Given the description of an element on the screen output the (x, y) to click on. 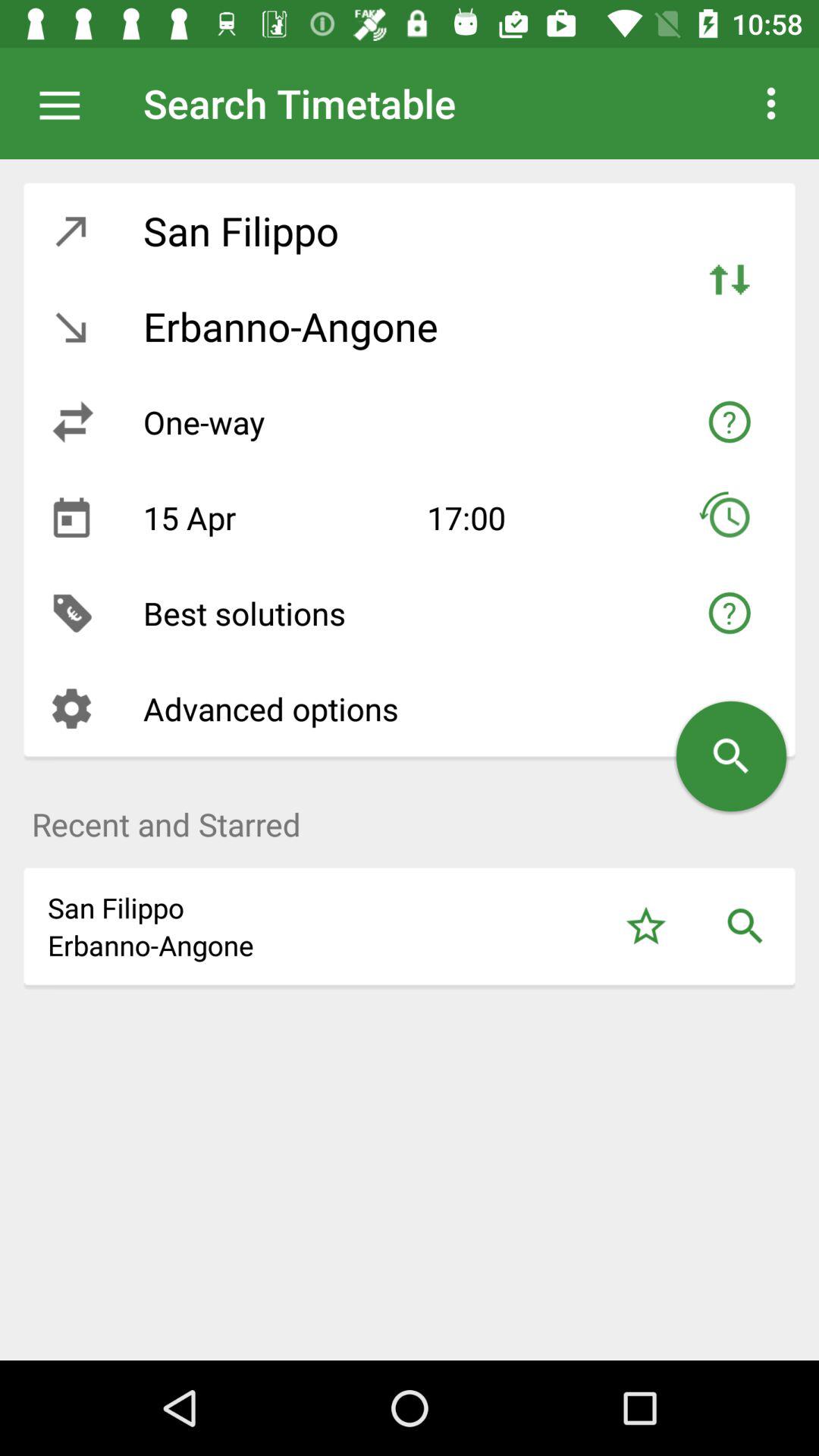
select the icon to the left of the search timetable (67, 103)
